Given the description of an element on the screen output the (x, y) to click on. 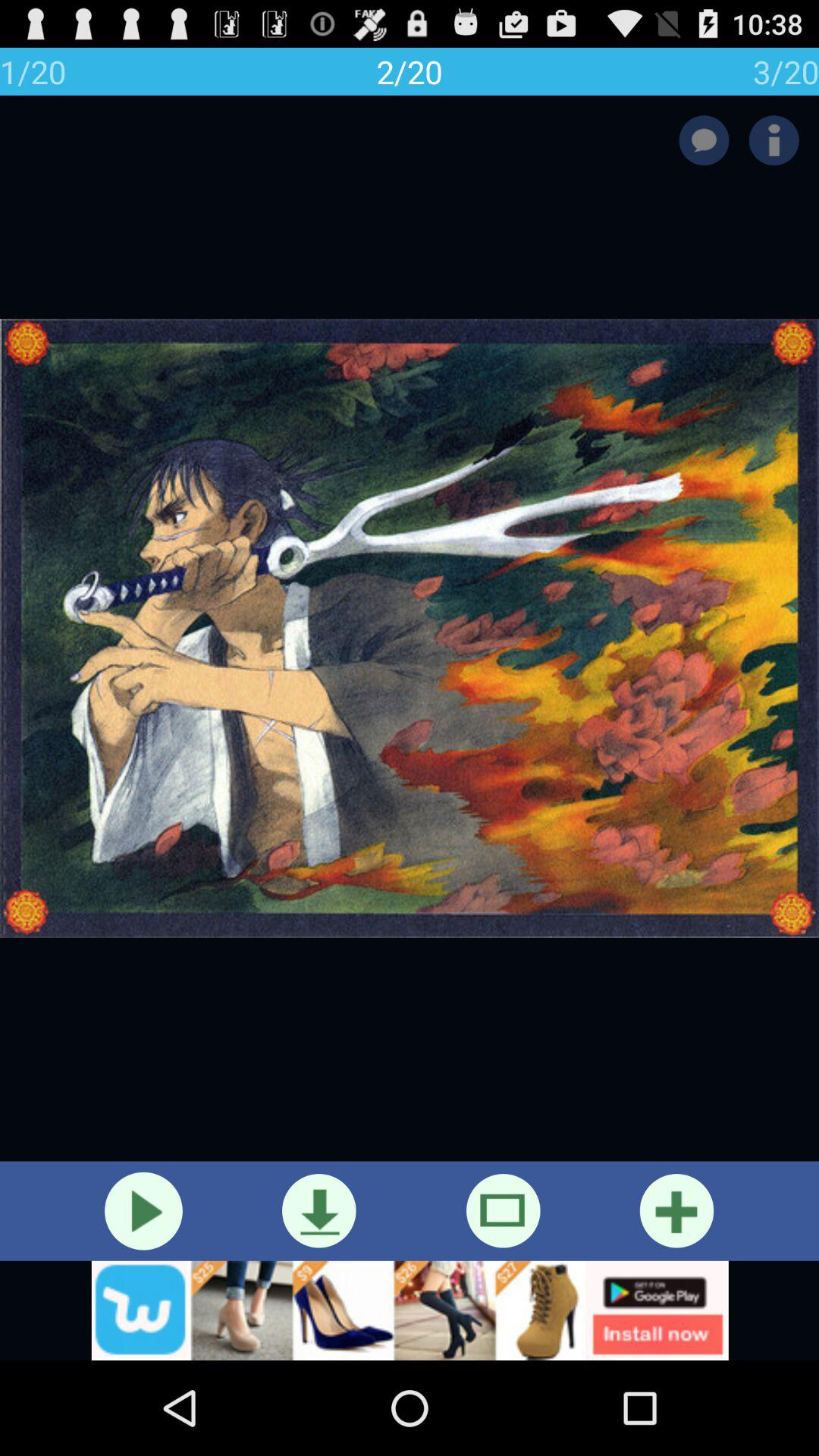
play button (143, 1211)
